Given the description of an element on the screen output the (x, y) to click on. 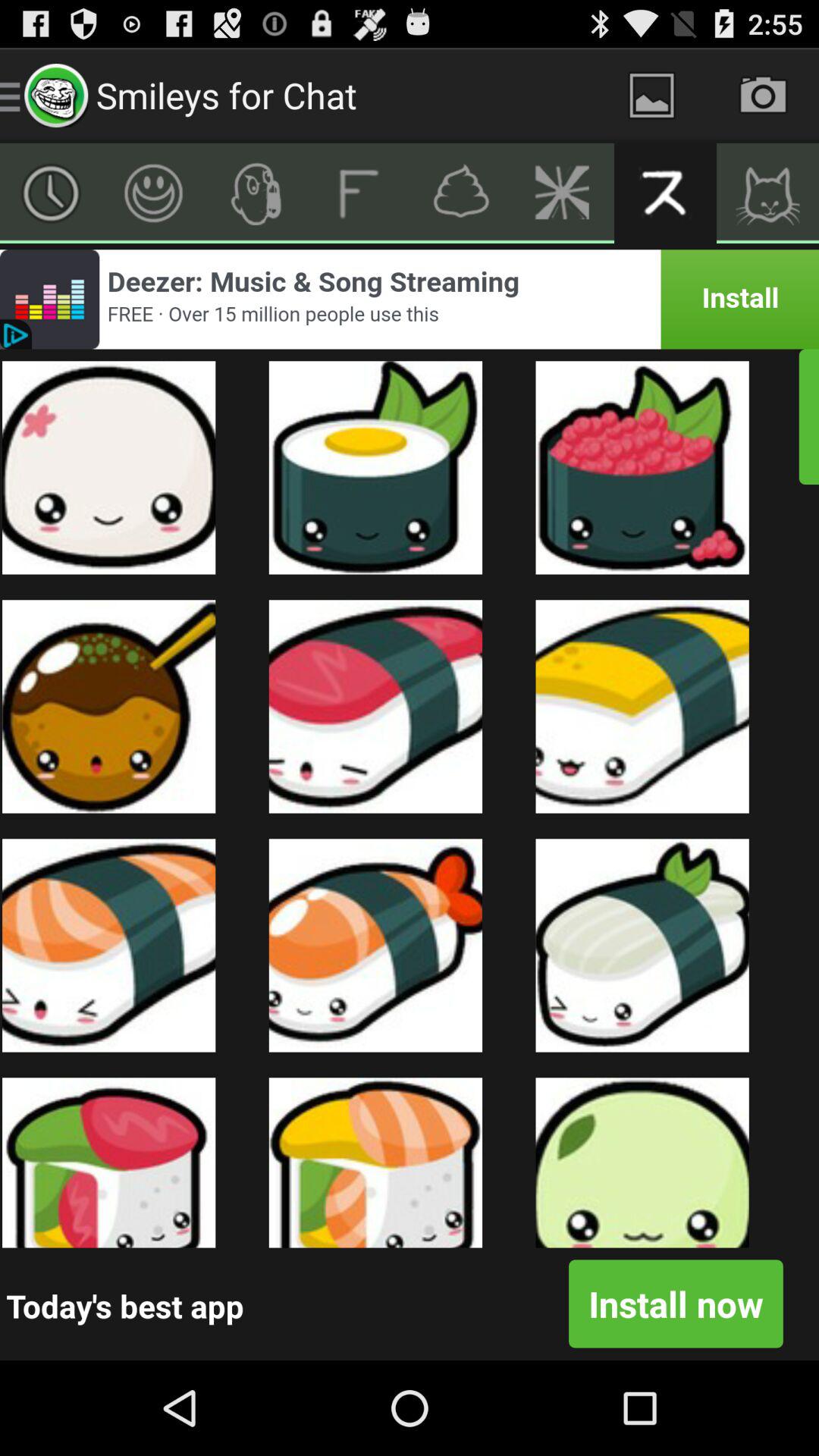
emotion (153, 193)
